Given the description of an element on the screen output the (x, y) to click on. 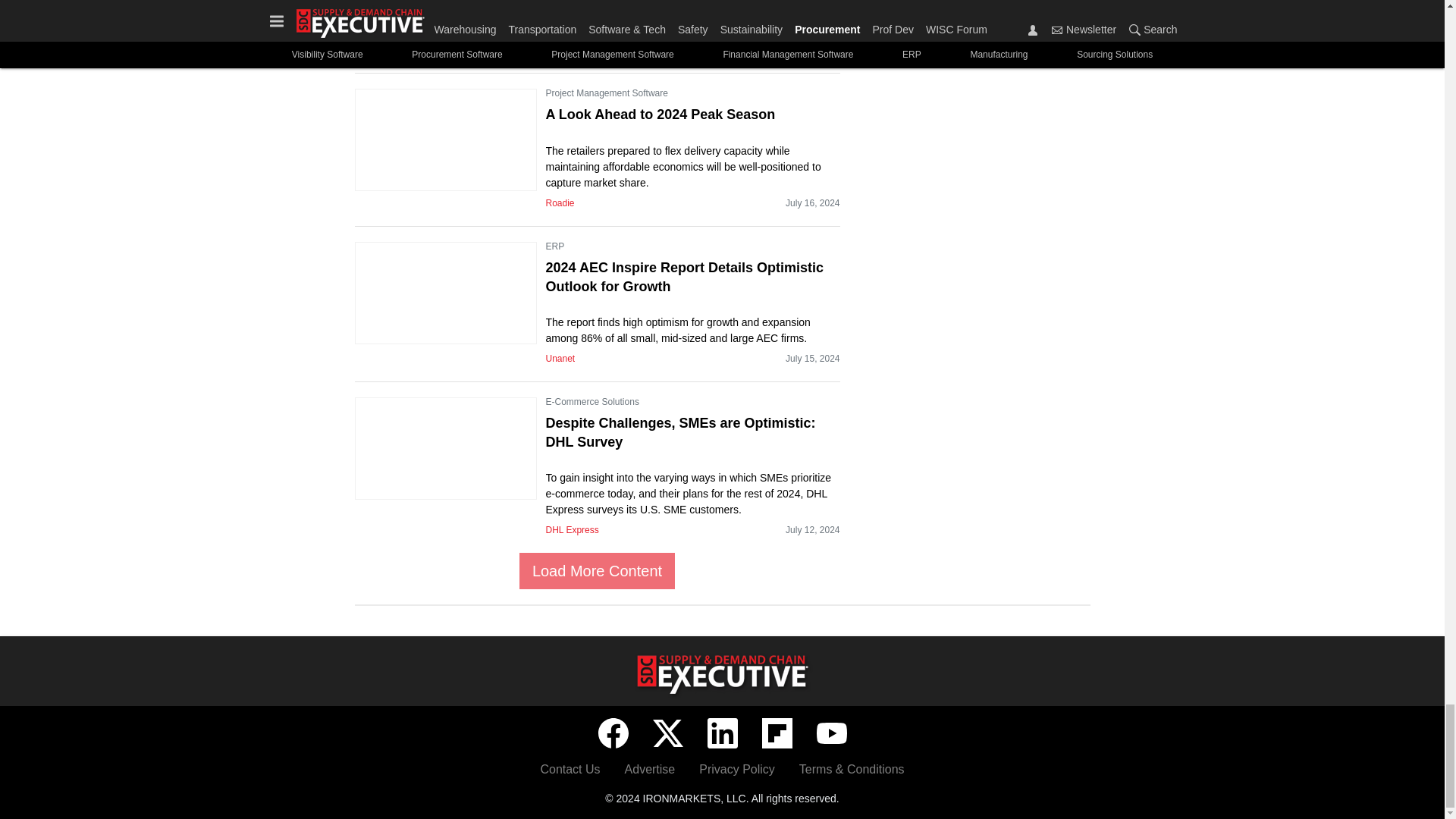
YouTube icon (830, 733)
Facebook icon (611, 733)
Twitter X icon (667, 733)
Flipboard icon (776, 733)
LinkedIn icon (721, 733)
